Given the description of an element on the screen output the (x, y) to click on. 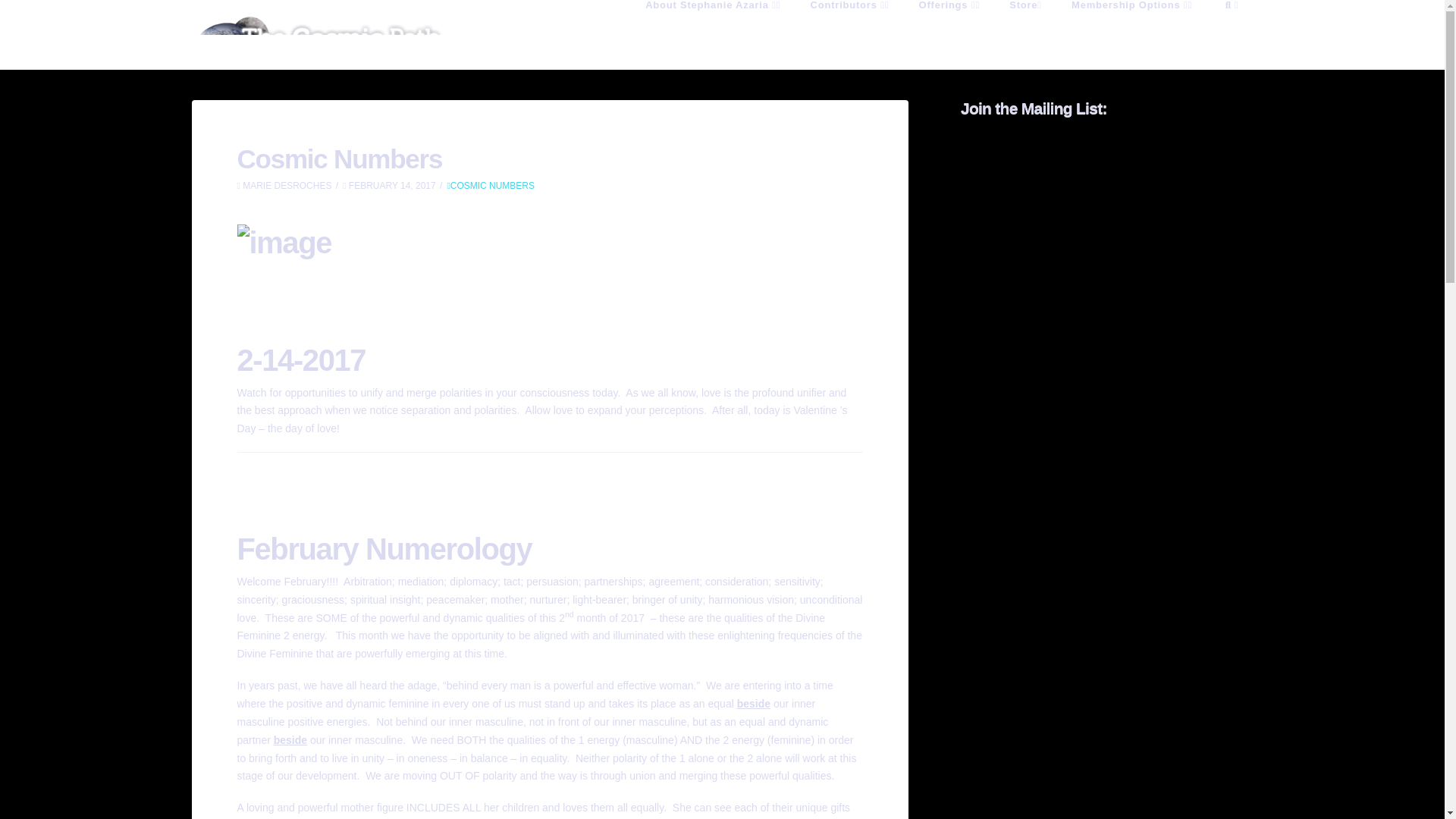
Contributors (849, 30)
Store (1025, 30)
About Stephanie Azaria (712, 30)
Membership Options (1132, 30)
Offerings (949, 30)
